Given the description of an element on the screen output the (x, y) to click on. 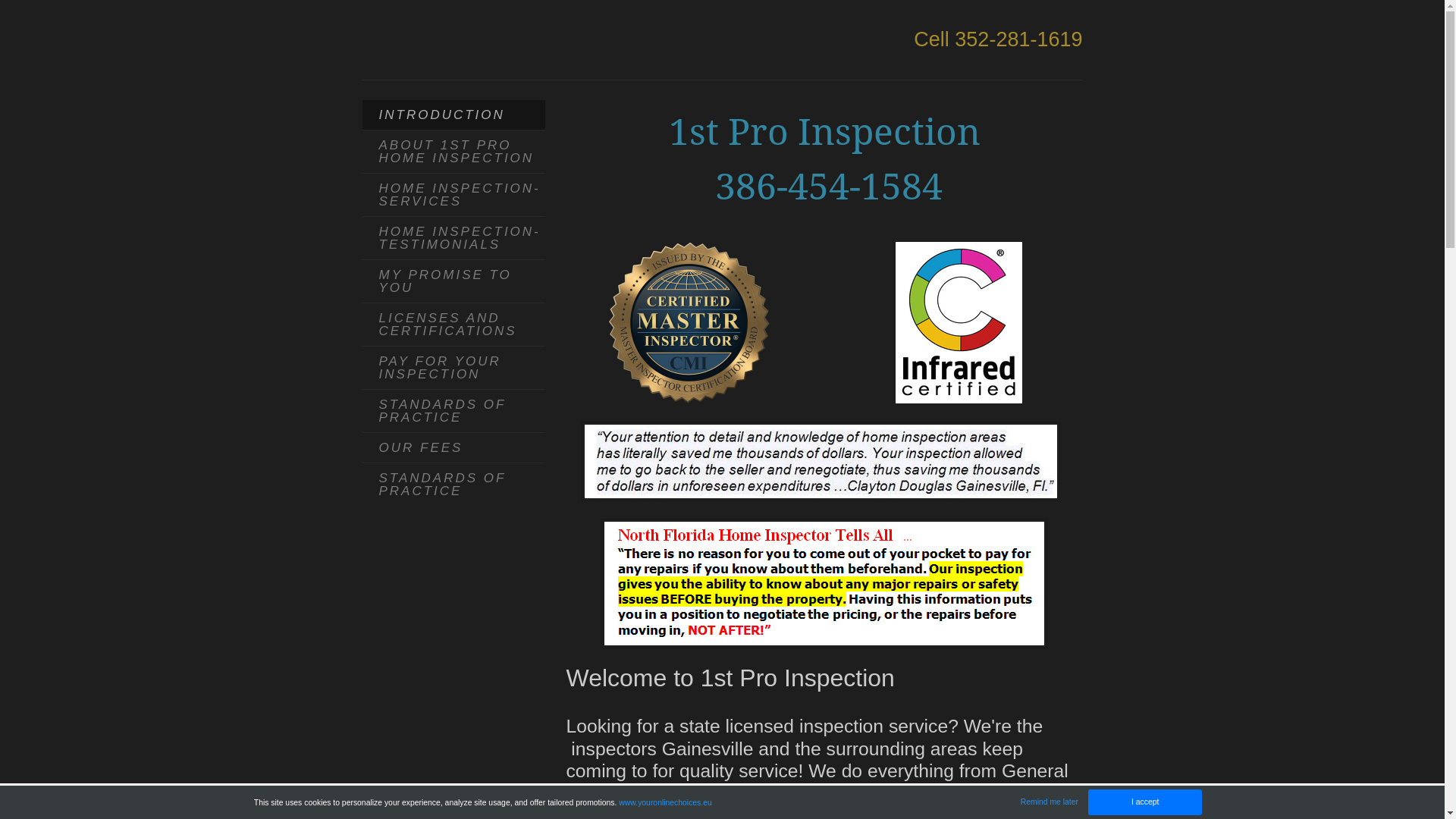
LICENSES AND CERTIFICATIONS Element type: text (453, 324)
HOME INSPECTION-TESTIMONIALS Element type: text (453, 238)
OUR FEES Element type: text (453, 448)
INTRODUCTION Element type: text (453, 115)
MY PROMISE TO YOU Element type: text (453, 281)
Remind me later Element type: text (1049, 801)
HOME INSPECTION-SERVICES Element type: text (453, 194)
STANDARDS OF PRACTICE Element type: text (453, 411)
I accept Element type: text (1144, 802)
STANDARDS OF PRACTICE Element type: text (453, 484)
ABOUT 1ST PRO HOME INSPECTION Element type: text (453, 151)
PAY FOR YOUR INSPECTION Element type: text (453, 367)
www.youronlinechoices.eu Element type: text (664, 802)
